Given the description of an element on the screen output the (x, y) to click on. 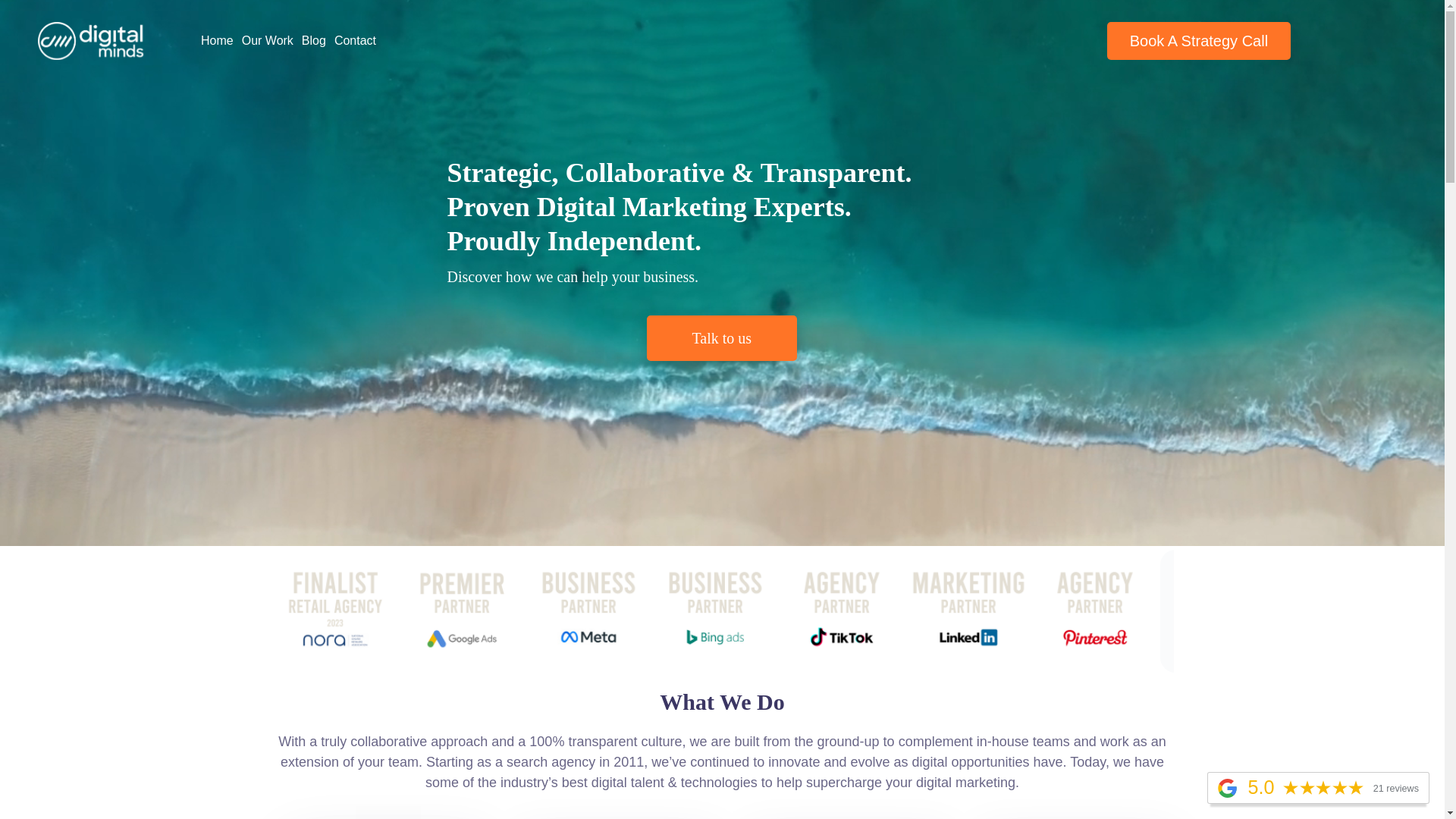
Contact Element type: text (355, 40)
digital-minds-logo Element type: hover (90, 40)
Our Work Element type: text (267, 40)
Blog Element type: text (313, 40)
Book A Strategy Call Element type: text (1198, 40)
Home Element type: text (216, 40)
Talk to us Element type: text (721, 337)
Powered by Google Element type: hover (1226, 787)
